Given the description of an element on the screen output the (x, y) to click on. 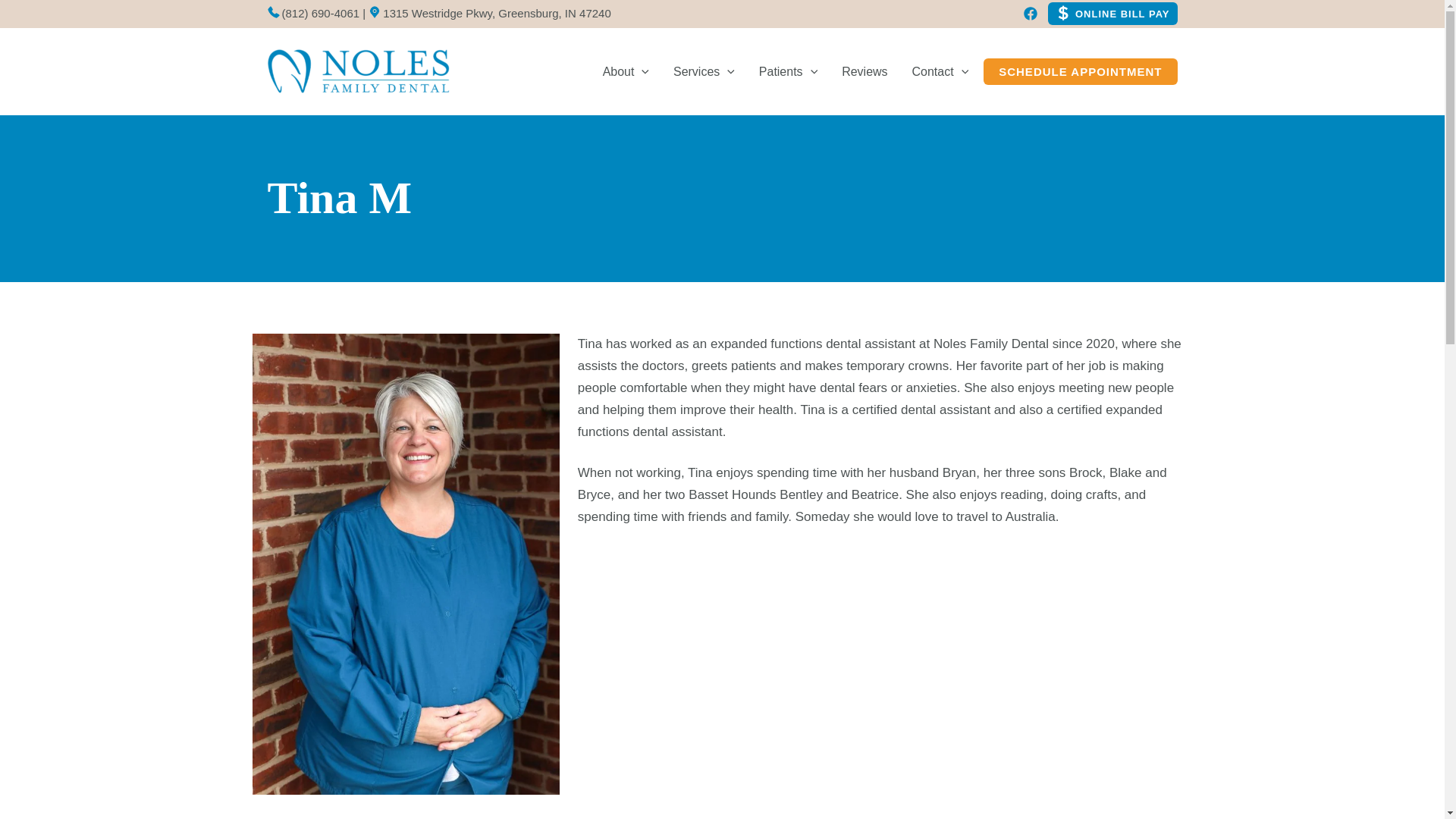
ONLINE BILL PAY (1109, 13)
Services (703, 70)
About (626, 70)
1315 Westridge Pkwy, Greensburg, IN 47240 (489, 12)
